Given the description of an element on the screen output the (x, y) to click on. 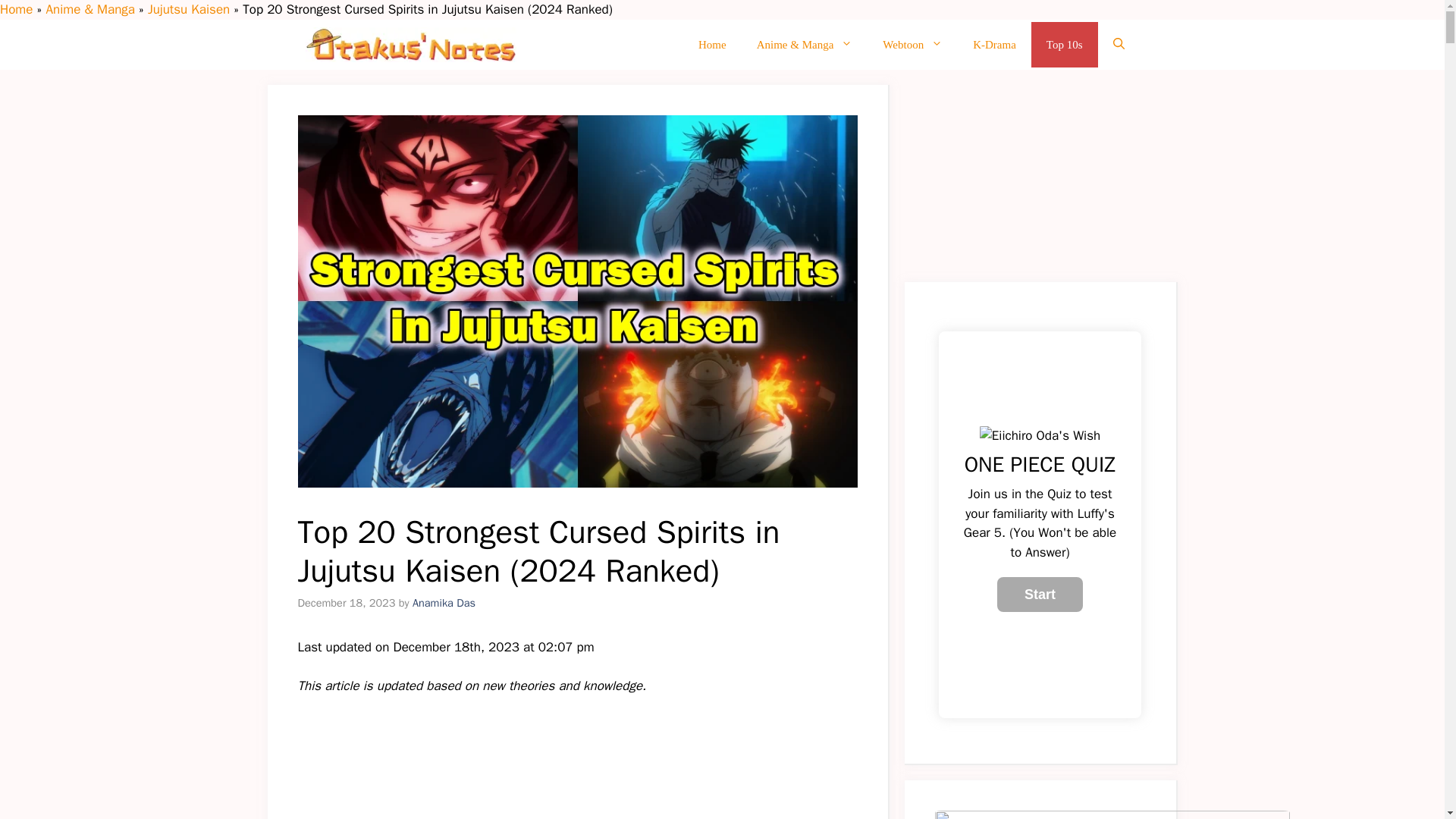
Start (1040, 594)
K-Drama (994, 43)
Anamika Das (444, 602)
Top 10s (1063, 43)
Jujutsu Kaisen (189, 9)
View all posts by Anamika Das (444, 602)
Home (16, 9)
Home (711, 43)
Webtoon (912, 43)
OtakusNotes (409, 44)
